Given the description of an element on the screen output the (x, y) to click on. 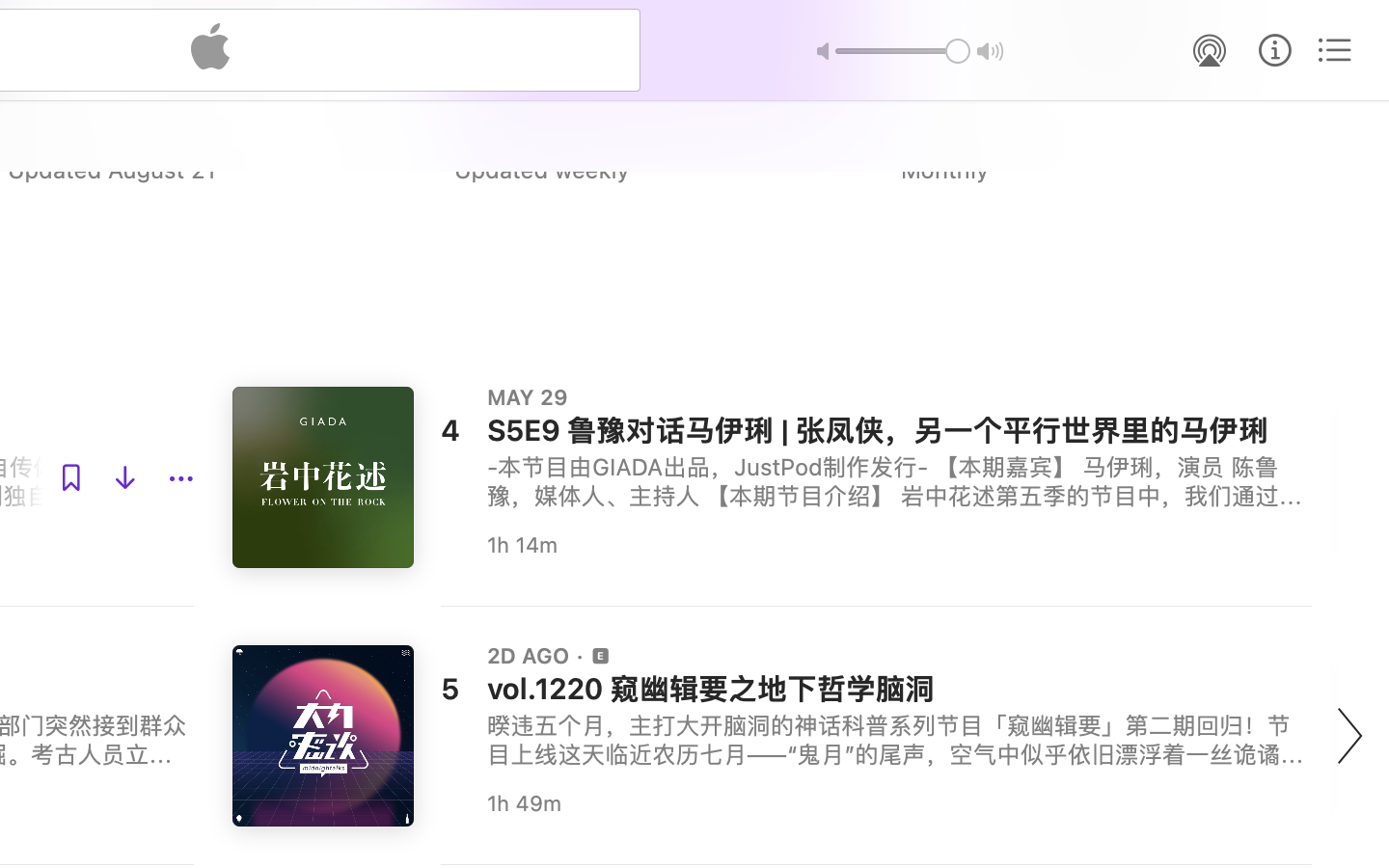
1.0 Element type: AXSlider (902, 50)
